Given the description of an element on the screen output the (x, y) to click on. 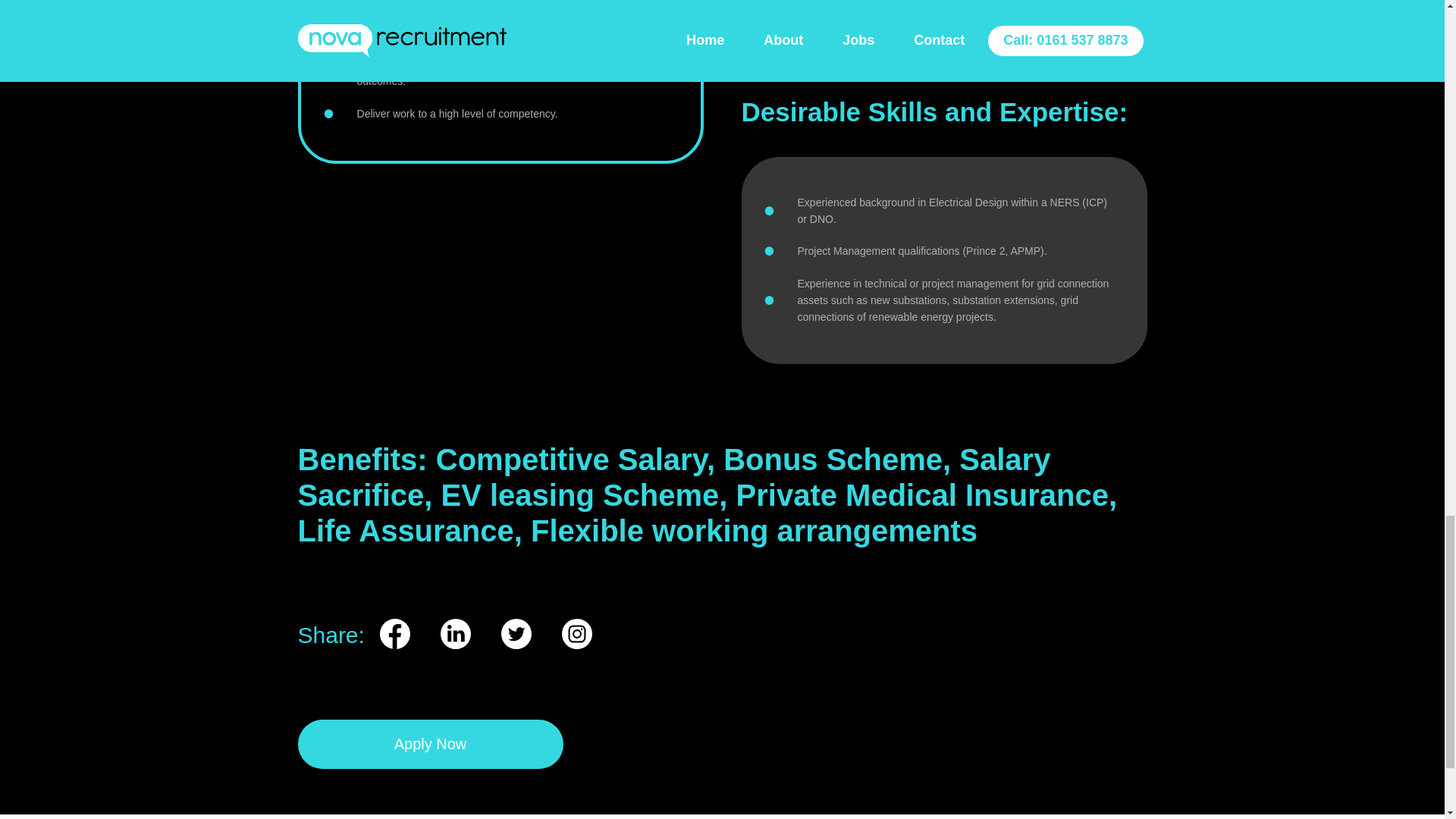
Apply Now (429, 744)
